Given the description of an element on the screen output the (x, y) to click on. 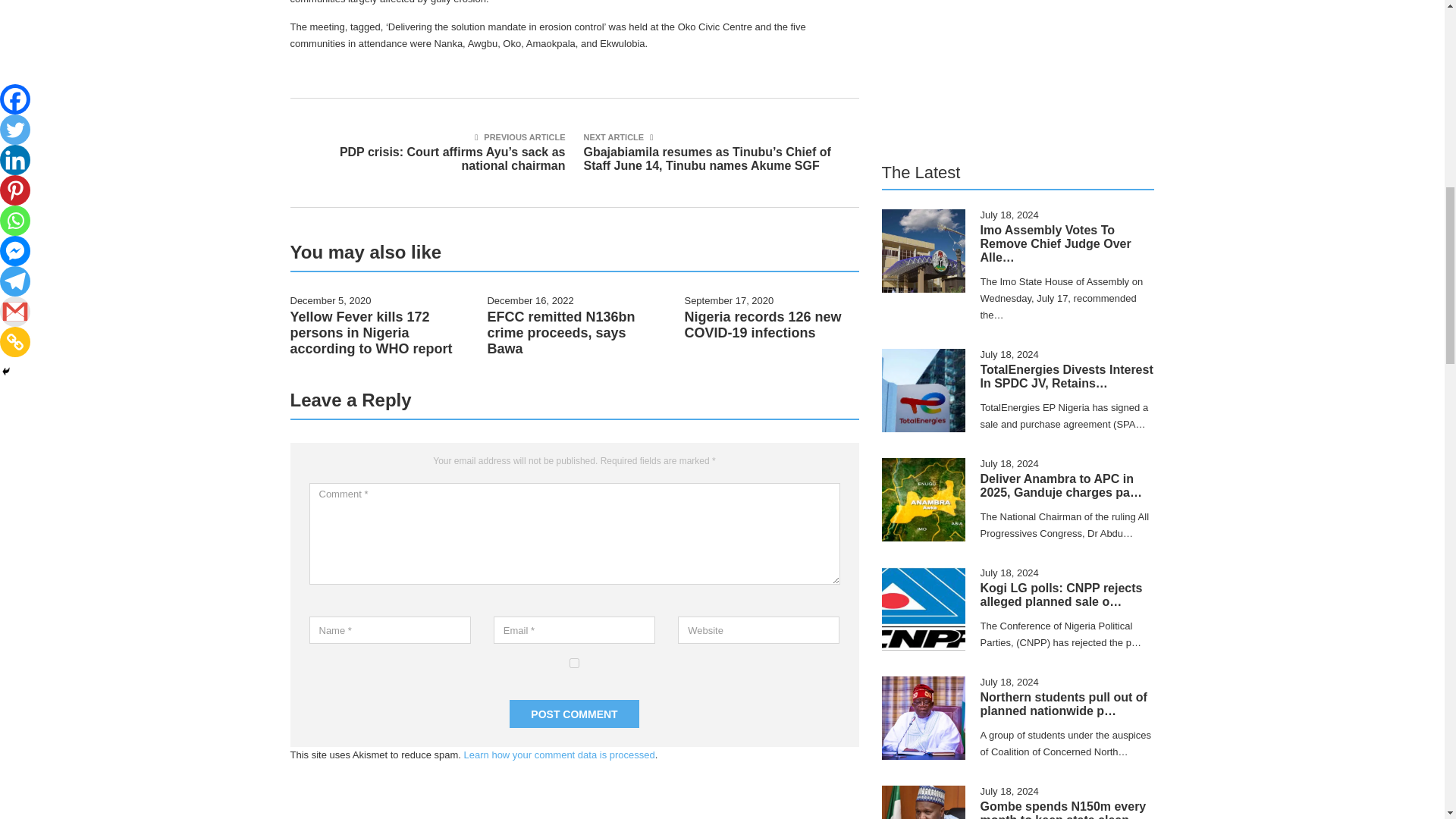
Post Comment (574, 714)
yes (574, 663)
